Given the description of an element on the screen output the (x, y) to click on. 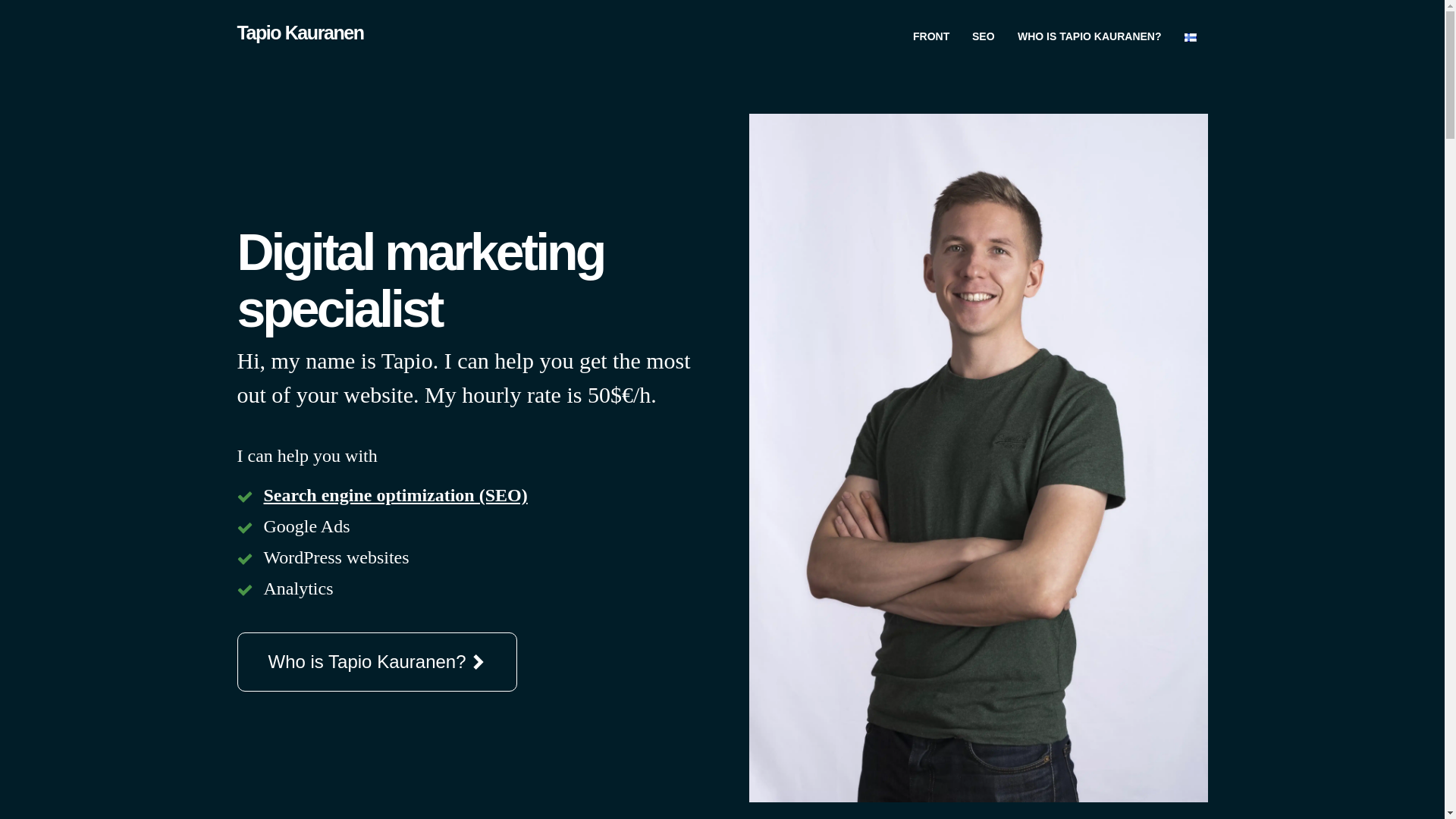
Tapio Kauranen (298, 32)
FRONT (930, 28)
WHO IS TAPIO KAURANEN? (1089, 28)
SEO (983, 28)
Who is Tapio Kauranen? (375, 661)
